Given the description of an element on the screen output the (x, y) to click on. 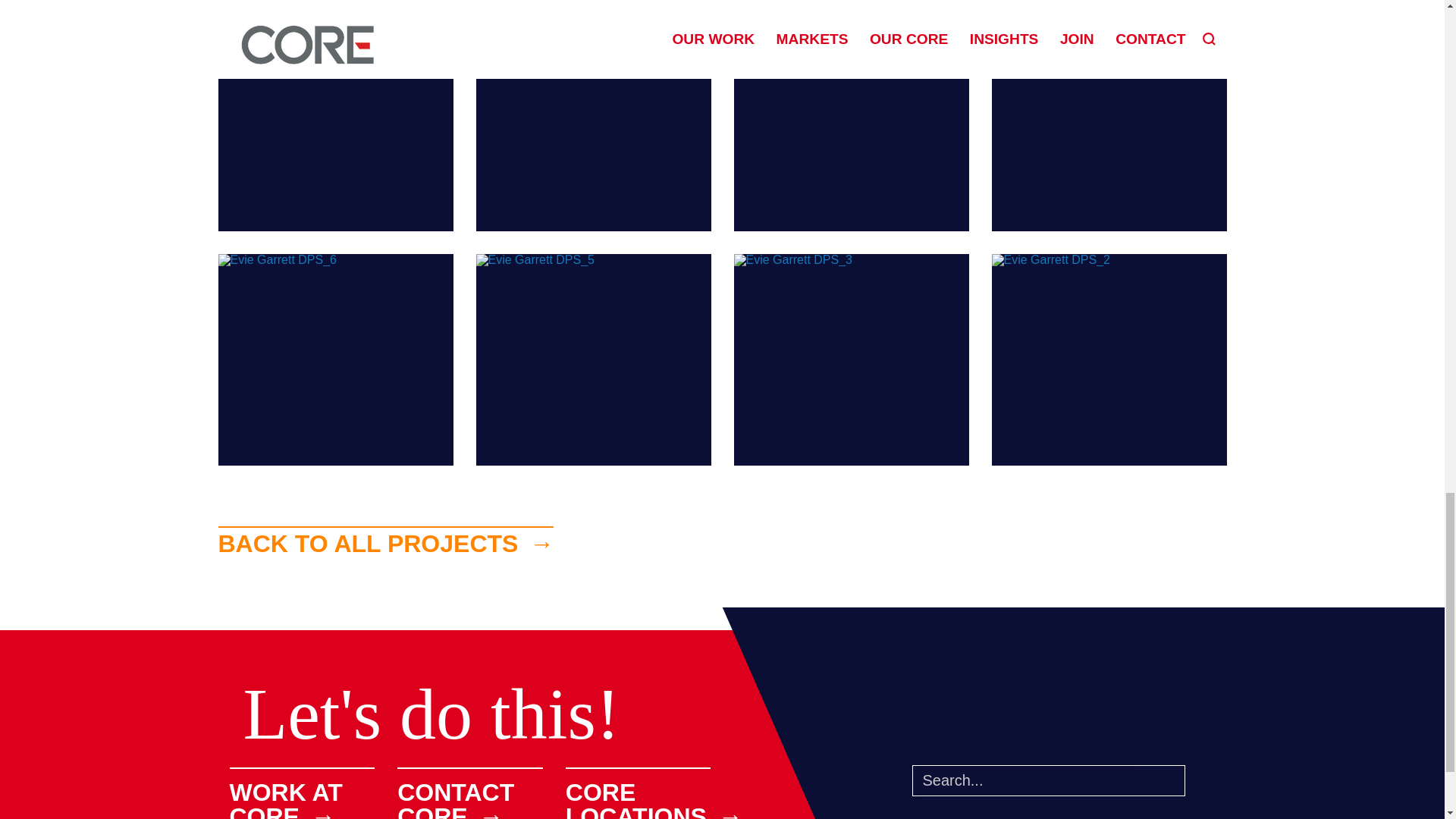
CORE on Facebook (1097, 728)
Back to CORE Projects (386, 541)
CORE on Instagram (950, 728)
BACK TO ALL PROJECTS (386, 541)
CORE on Twitter (998, 728)
CORE on LinkedIn (1048, 728)
